Given the description of an element on the screen output the (x, y) to click on. 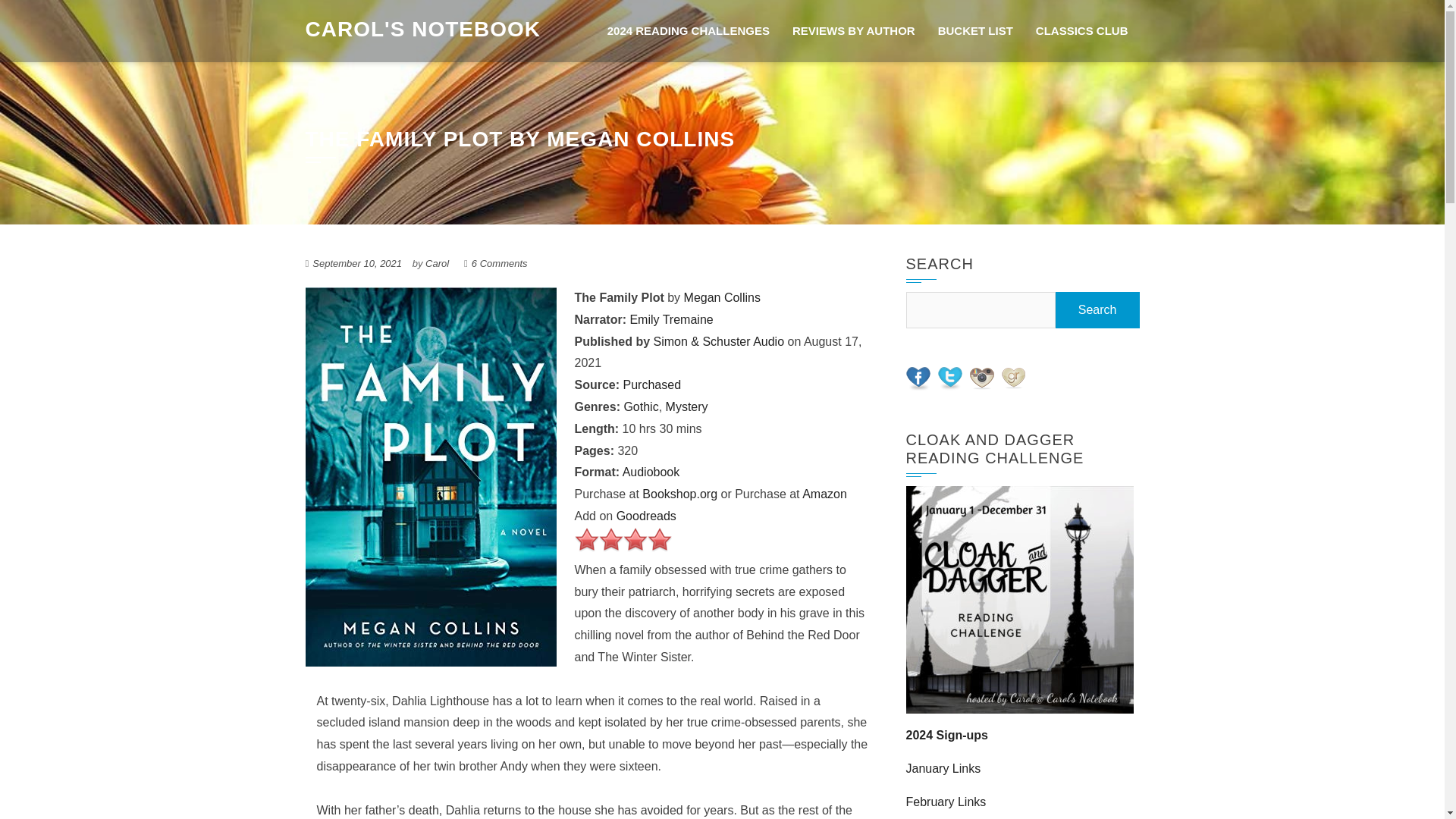
6 Comments (499, 263)
Follow Me on Twitter (948, 378)
Bookshop.org (679, 493)
Follow Me on Goodreads (1013, 378)
Search (1097, 310)
BUCKET LIST (975, 31)
Emily Tremaine (670, 318)
Carol (436, 263)
Megan Collins (722, 297)
CLASSICS CLUB (1082, 31)
Purchased (652, 384)
September 10, 2021 (357, 263)
Mystery (686, 406)
Amazon (824, 493)
CAROL'S NOTEBOOK (422, 28)
